Given the description of an element on the screen output the (x, y) to click on. 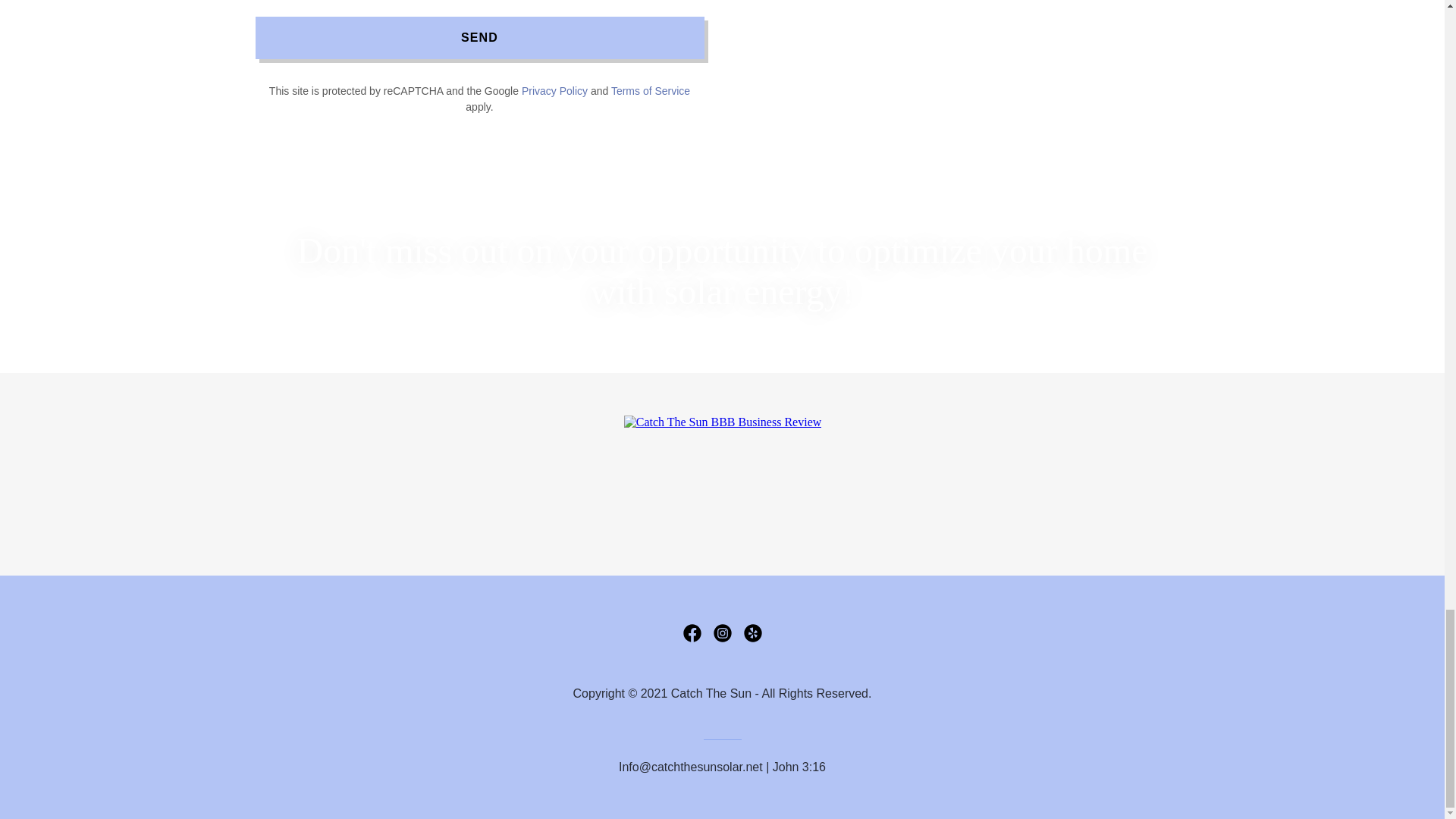
Privacy Policy (554, 91)
SEND (478, 37)
Terms of Service (650, 91)
